Given the description of an element on the screen output the (x, y) to click on. 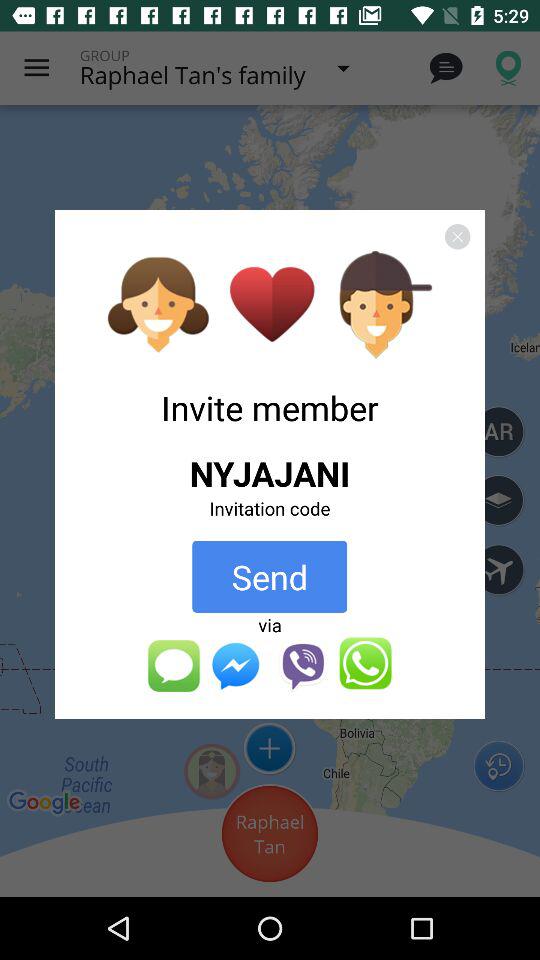
select the icon below via (269, 664)
